Given the description of an element on the screen output the (x, y) to click on. 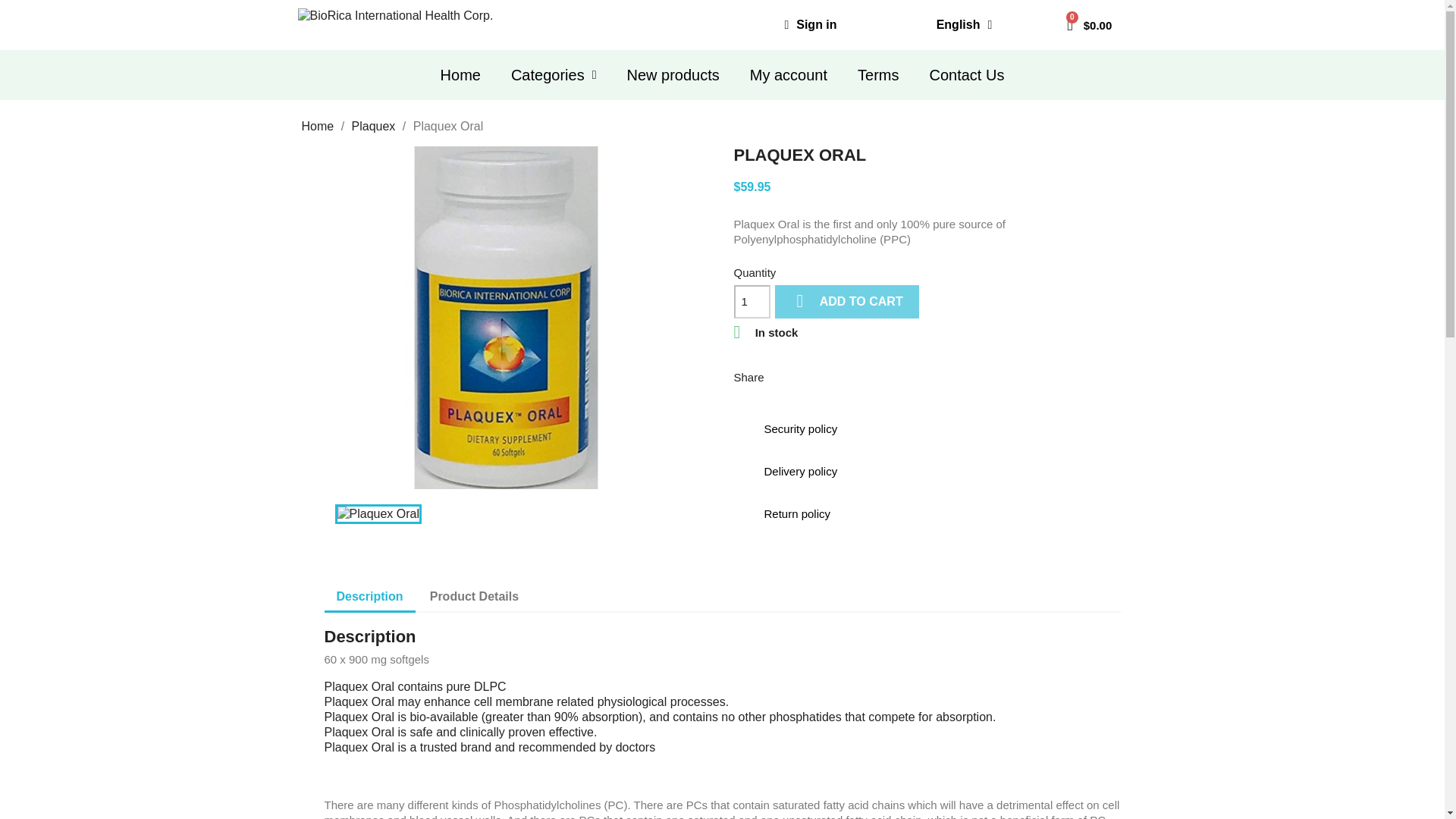
New products (672, 74)
Sign in (809, 24)
Share (785, 376)
Terms (878, 74)
Home (460, 74)
Categories (553, 74)
Contact Us (966, 74)
Plaquex Oral (378, 514)
English (964, 24)
My account (789, 74)
1 (751, 301)
Plaquex Oral (506, 317)
